Given the description of an element on the screen output the (x, y) to click on. 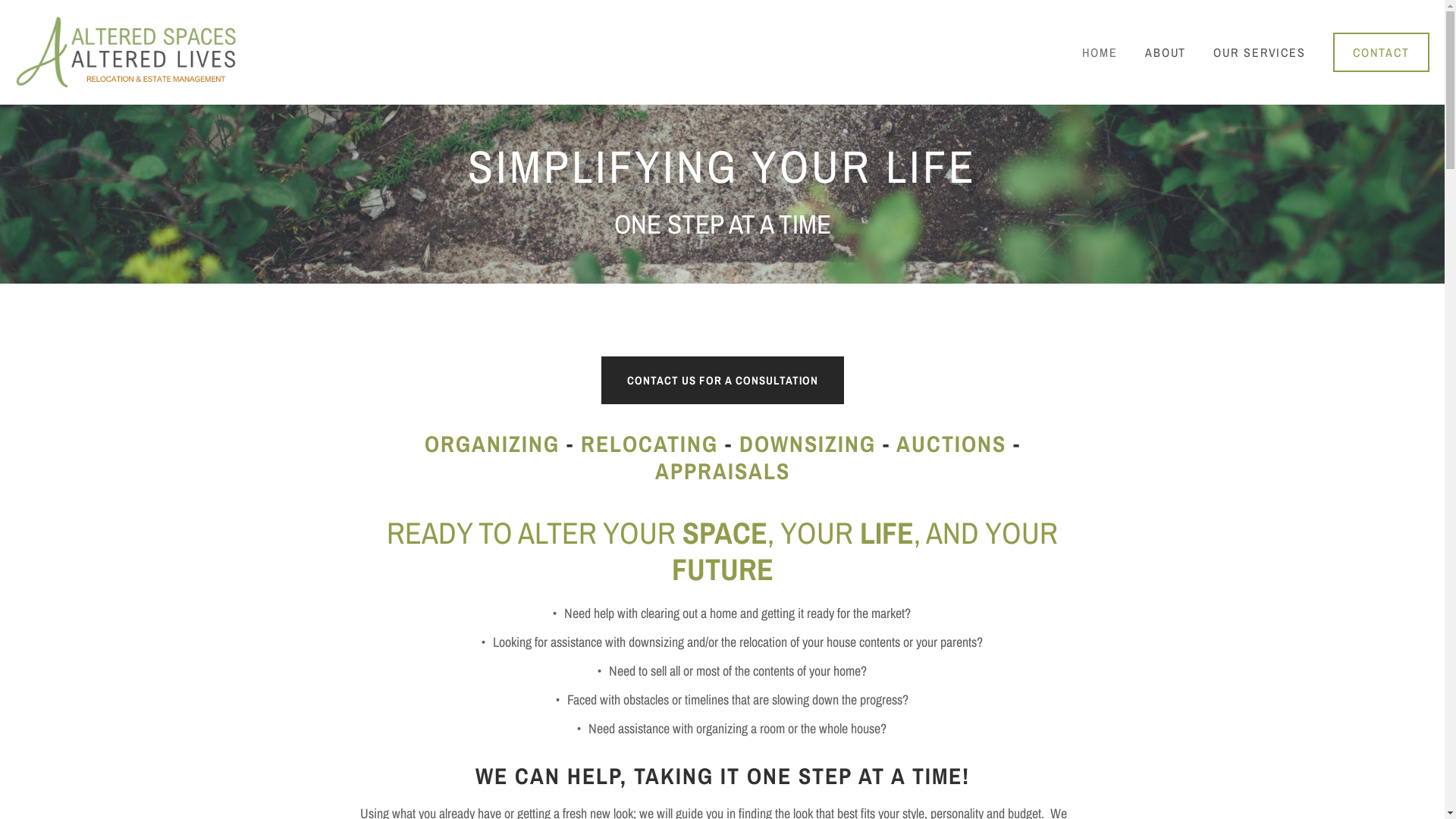
CONTACT US FOR A CONSULTATION Element type: text (721, 380)
DOWNSIZING Element type: text (806, 443)
CONTACT Element type: text (1381, 52)
RELOCATING Element type: text (649, 443)
HOME Element type: text (1099, 52)
APPRAISALS Element type: text (722, 470)
AUCTIONS Element type: text (951, 443)
ORGANIZING Element type: text (491, 443)
